Given the description of an element on the screen output the (x, y) to click on. 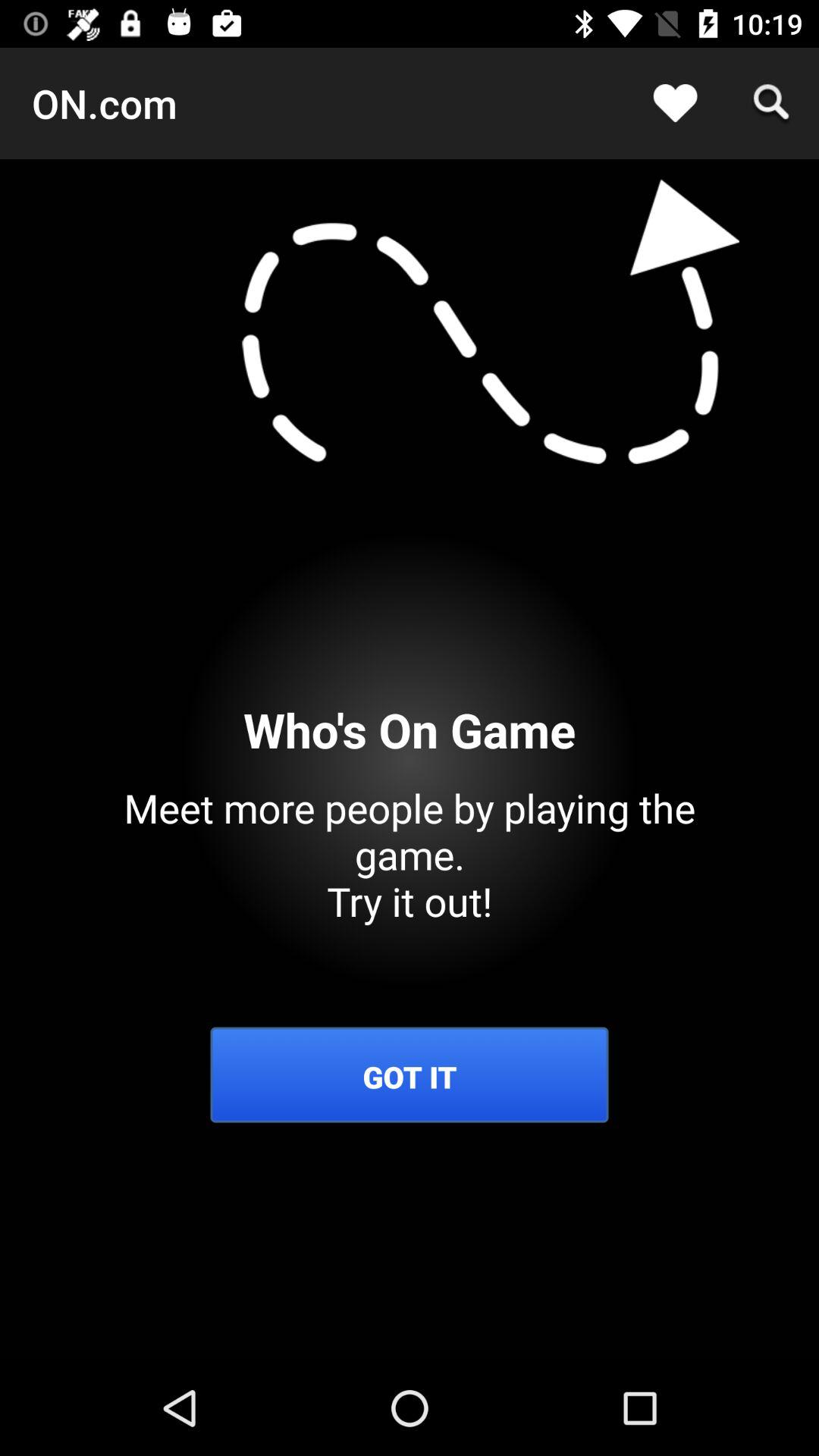
open app next to on.com icon (675, 103)
